Given the description of an element on the screen output the (x, y) to click on. 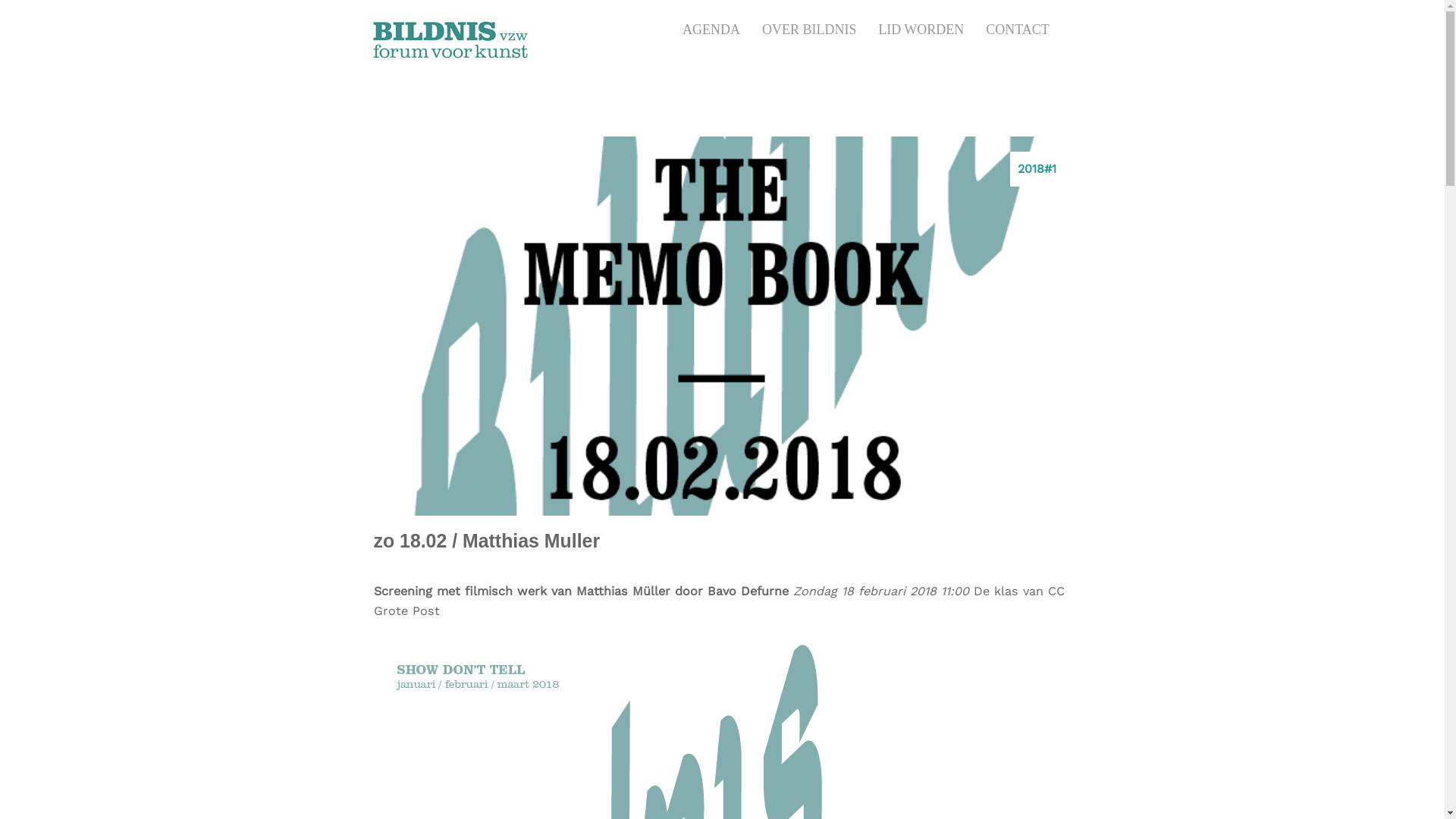
CONTACT Element type: text (1017, 29)
LID WORDEN Element type: text (920, 29)
OVER BILDNIS Element type: text (809, 29)
AGENDA Element type: text (711, 29)
